Given the description of an element on the screen output the (x, y) to click on. 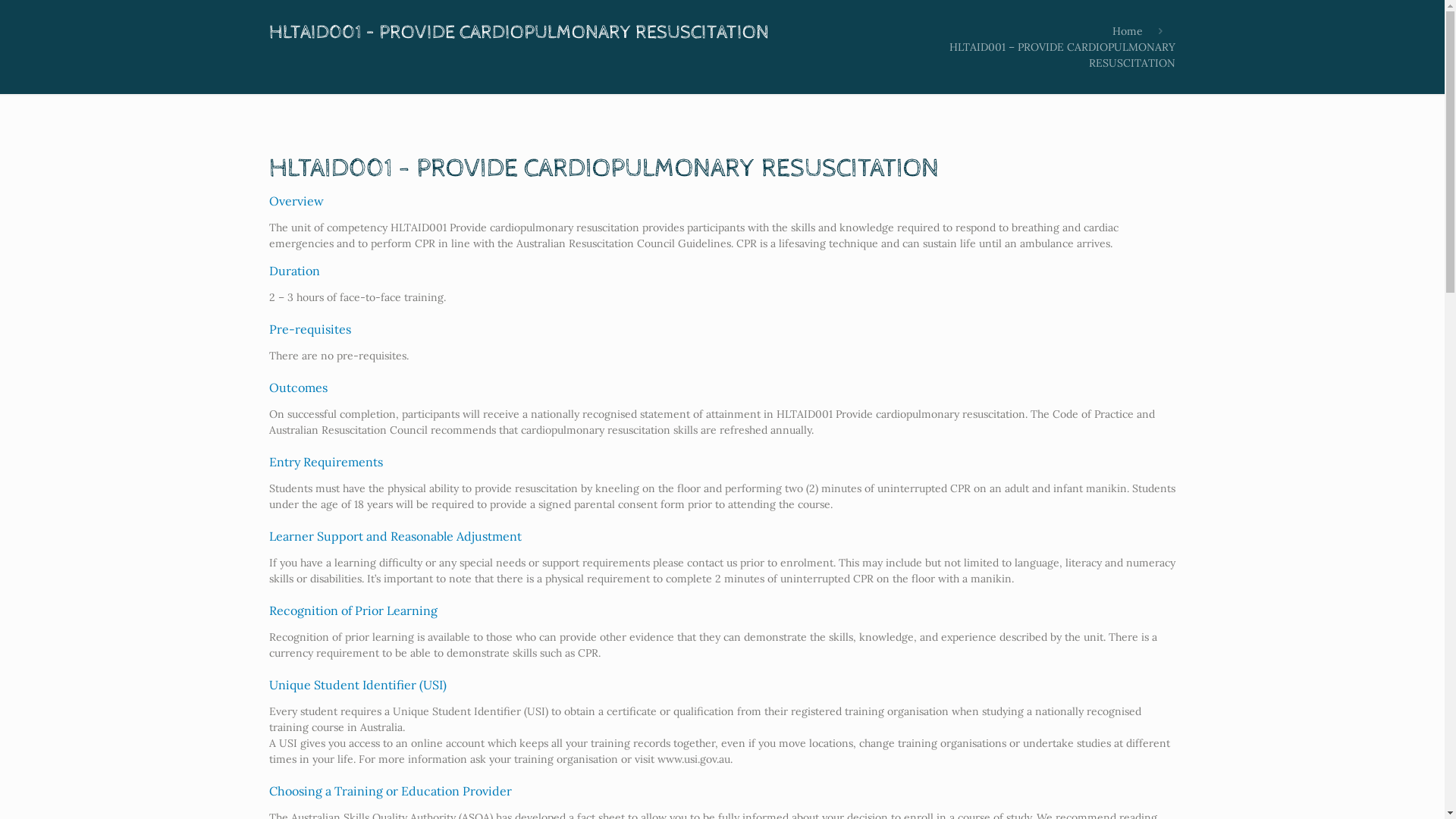
Home Element type: text (1127, 30)
